Given the description of an element on the screen output the (x, y) to click on. 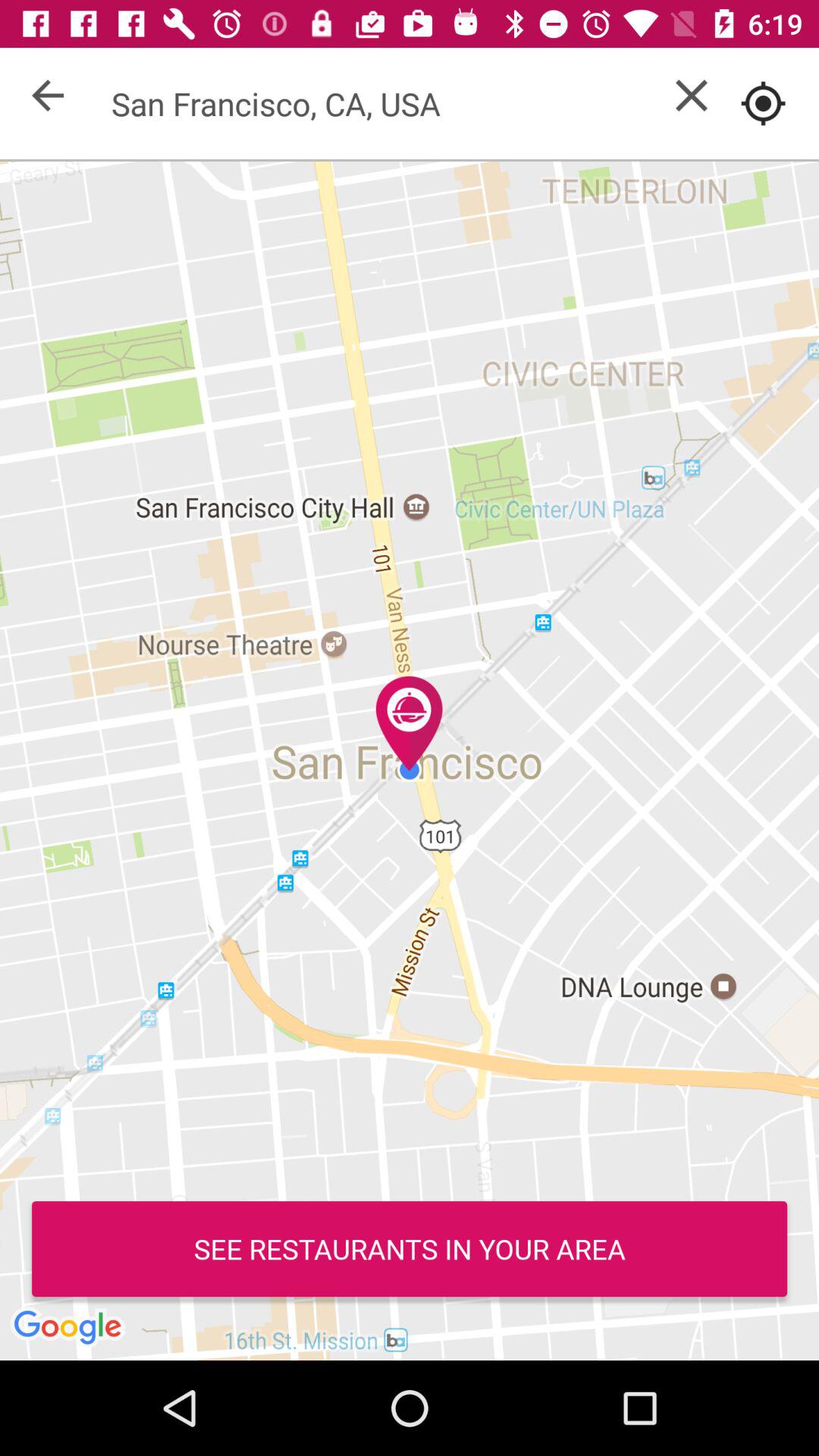
mark map (763, 103)
